Given the description of an element on the screen output the (x, y) to click on. 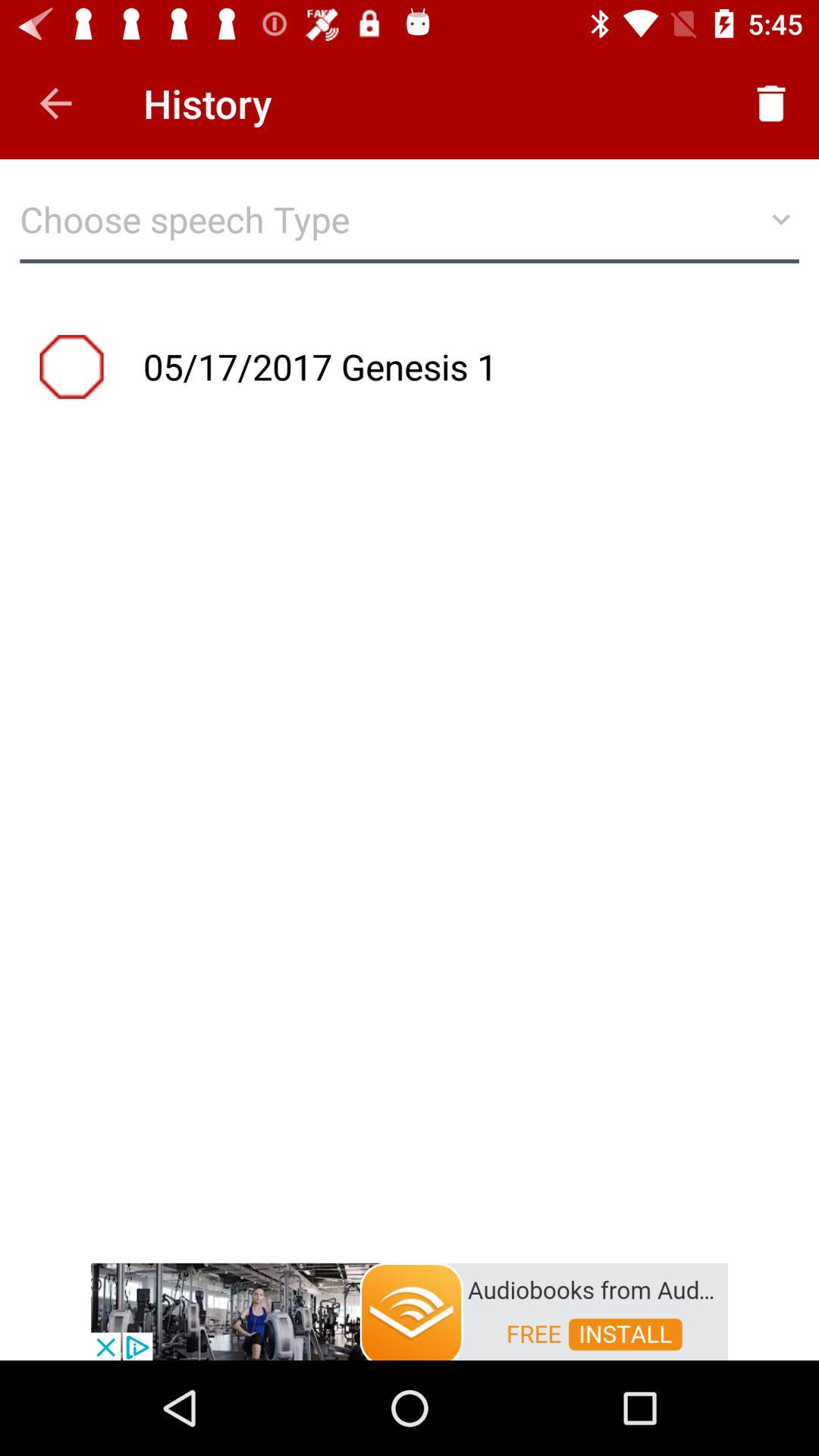
choose speech type (409, 227)
